Given the description of an element on the screen output the (x, y) to click on. 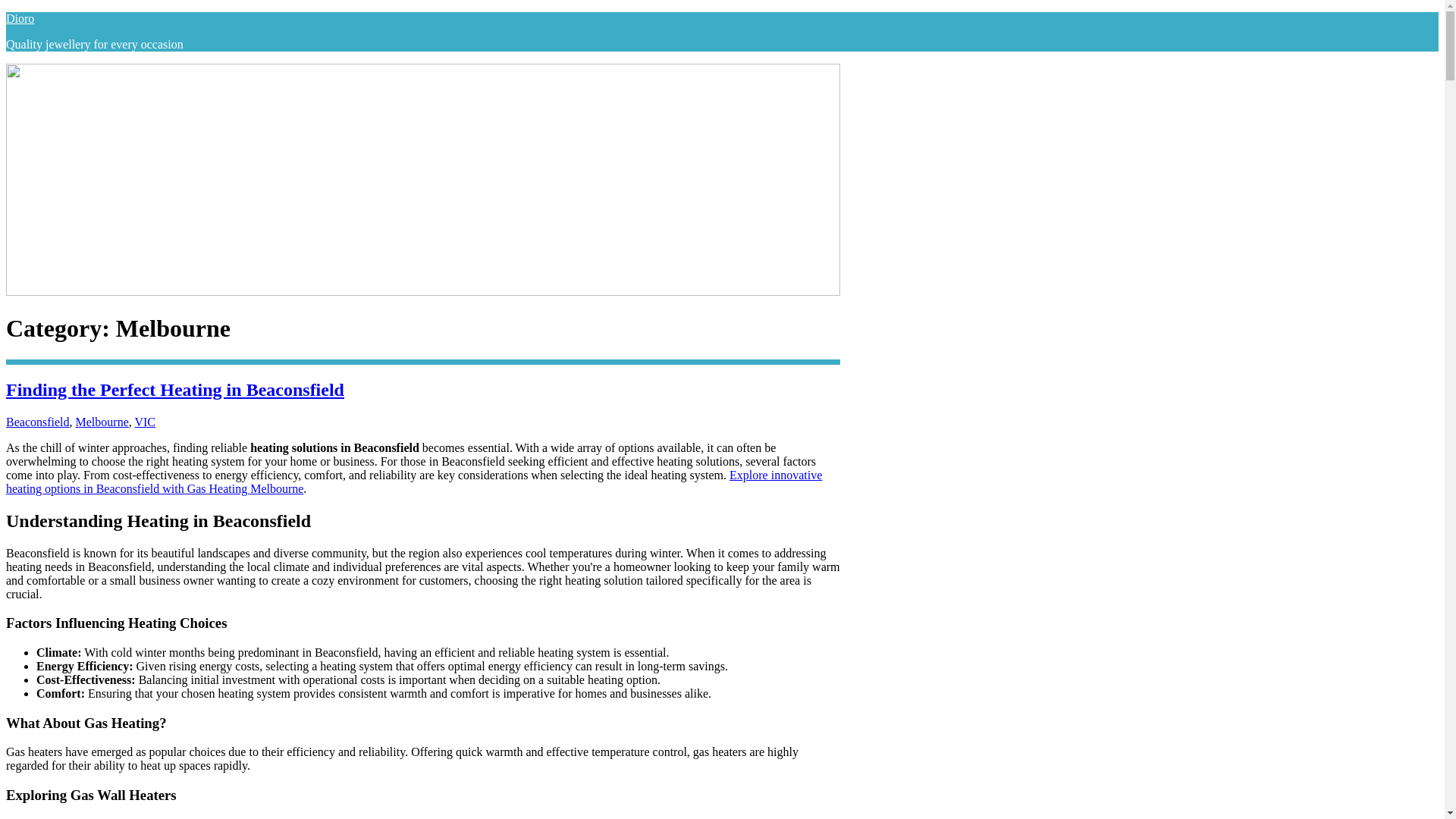
Dioro (19, 18)
Finding the Perfect Heating in Beaconsfield (174, 389)
Beaconsfield (37, 421)
Melbourne (102, 421)
VIC (144, 421)
